Given the description of an element on the screen output the (x, y) to click on. 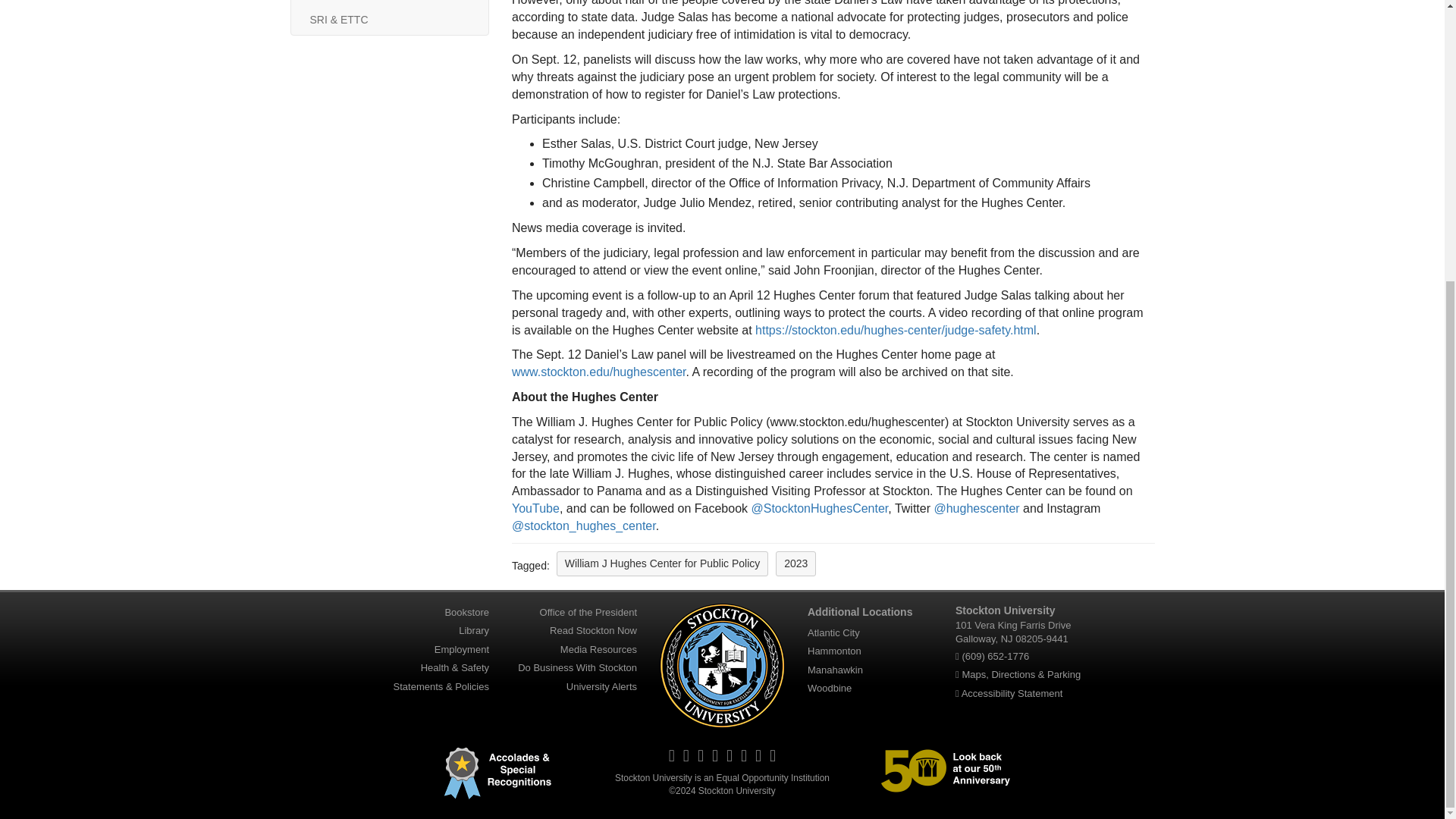
2023 (795, 563)
William J Hughes Center for Public Policy (662, 563)
Personnel Actions Calendar (389, 2)
YouTube (535, 508)
Media Resources (598, 649)
University Alerts (601, 686)
Office of the President (588, 611)
Do Business With Stockton (577, 667)
Call with Google Voice (994, 655)
Read Stockton Now (593, 630)
